Given the description of an element on the screen output the (x, y) to click on. 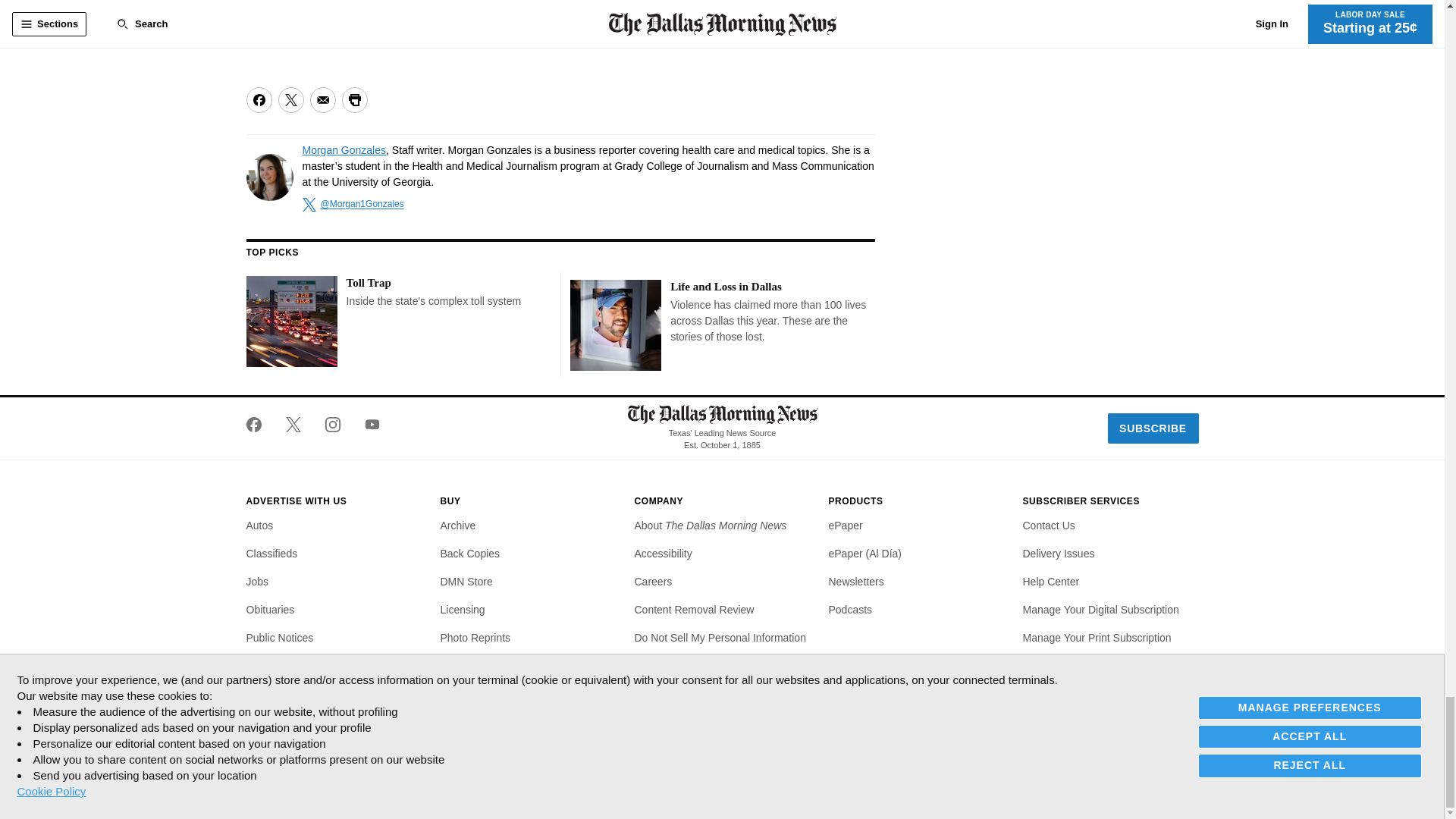
The Dallas Morning News on Twitter (293, 424)
The Dallas Morning News on YouTube (365, 424)
The Dallas Morning News on Instagram (332, 424)
Print (353, 99)
Share on Twitter (290, 99)
The Dallas Morning News on Facebook (259, 424)
Share on Facebook (258, 99)
Share via Email (321, 99)
